Given the description of an element on the screen output the (x, y) to click on. 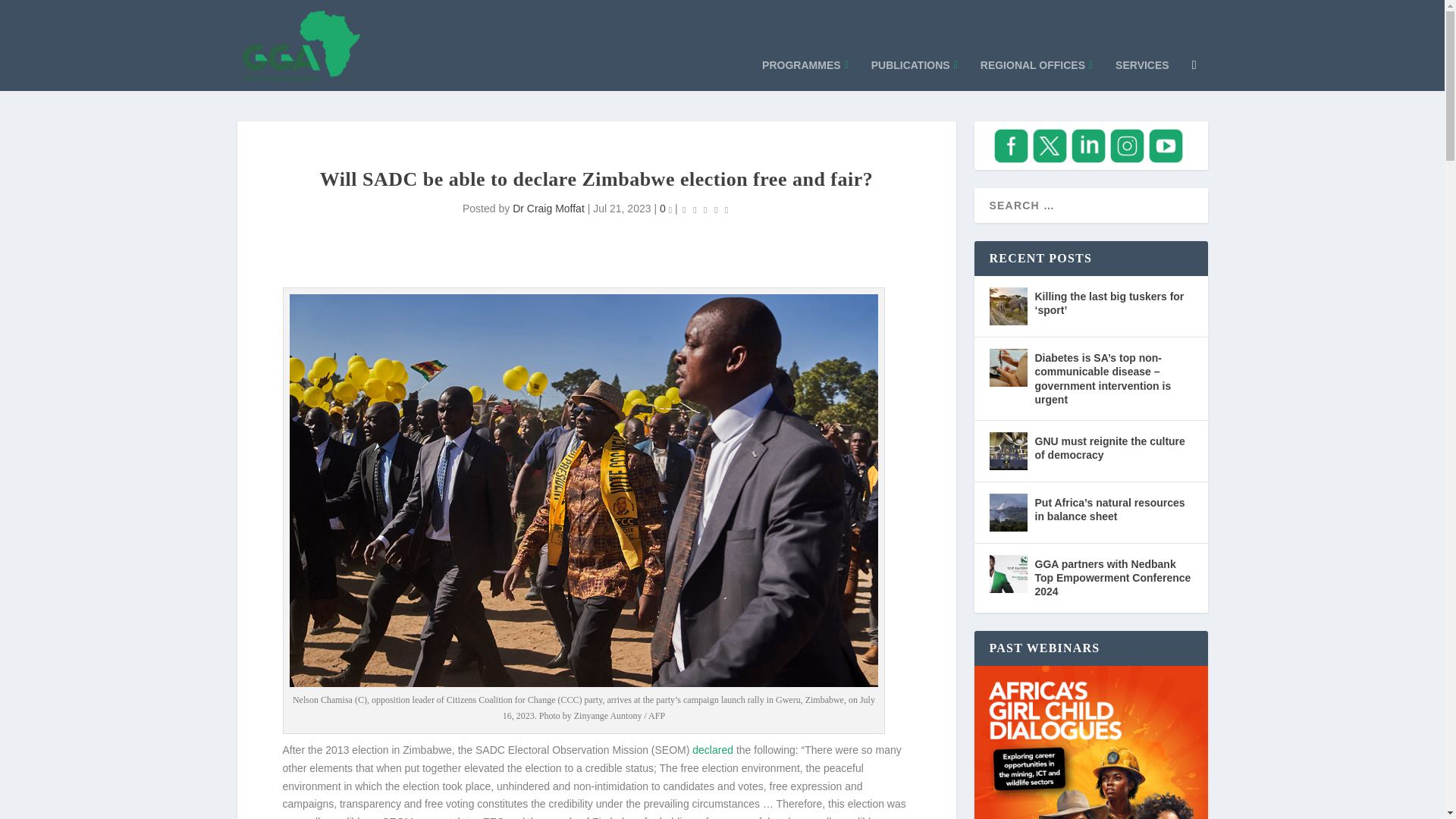
PROGRAMMES (804, 68)
0 (665, 208)
Rating: 0.00 (704, 209)
Posts by Dr Craig Moffat (548, 208)
PUBLICATIONS (914, 68)
REGIONAL OFFICES (1036, 68)
SERVICES (1142, 68)
declared (713, 749)
Dr Craig Moffat (548, 208)
